Given the description of an element on the screen output the (x, y) to click on. 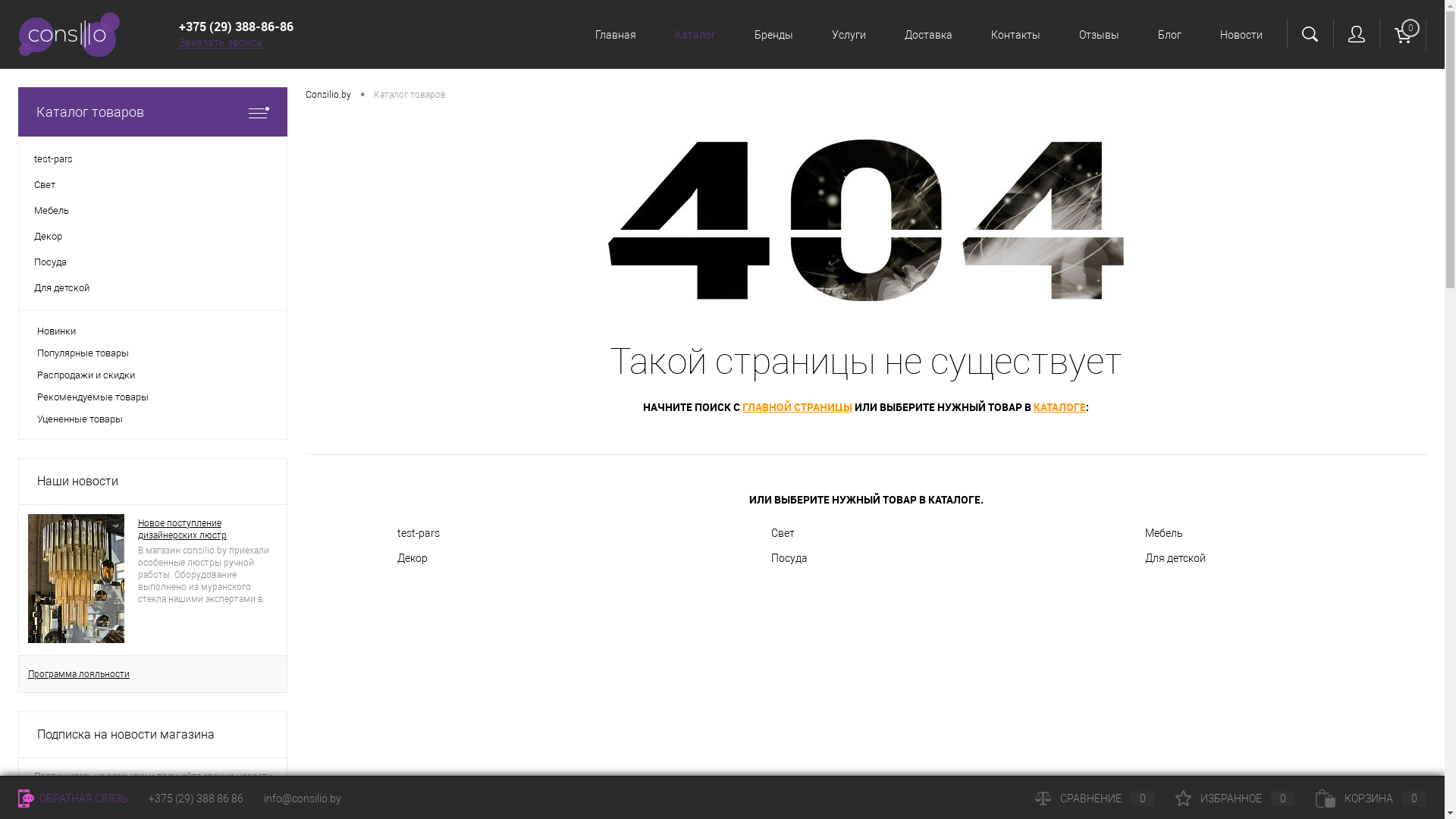
+375 (29) 388 86 86 Element type: text (195, 798)
info@consilio.by Element type: text (302, 798)
Consilio.by Element type: text (328, 95)
test-pars Element type: text (152, 159)
test-pars Element type: text (491, 533)
0 Element type: text (1402, 35)
